Given the description of an element on the screen output the (x, y) to click on. 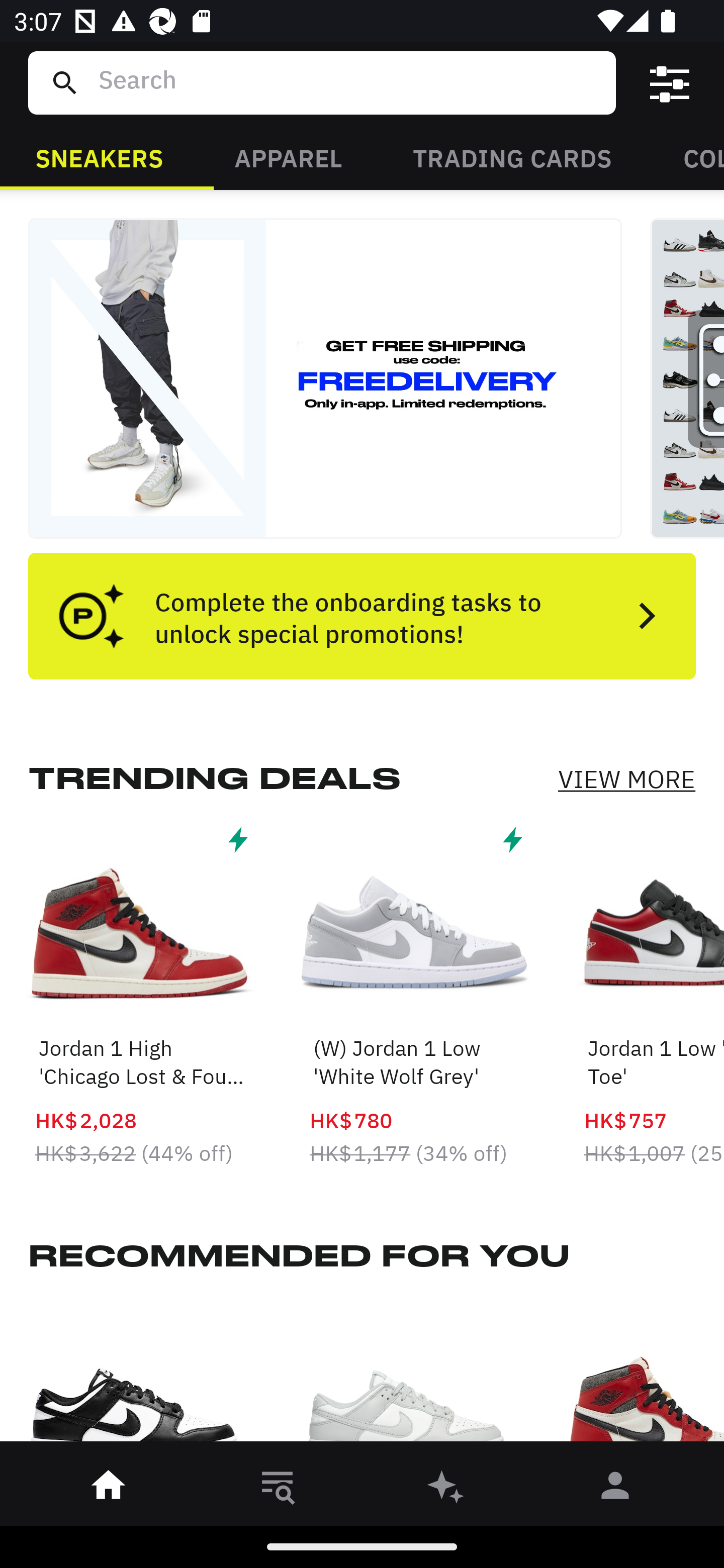
Search (349, 82)
 (669, 82)
SNEAKERS (99, 156)
APPAREL (287, 156)
TRADING CARDS (512, 156)
VIEW MORE (626, 779)
󰋜 (108, 1488)
󱎸 (277, 1488)
󰫢 (446, 1488)
󰀄 (615, 1488)
